Given the description of an element on the screen output the (x, y) to click on. 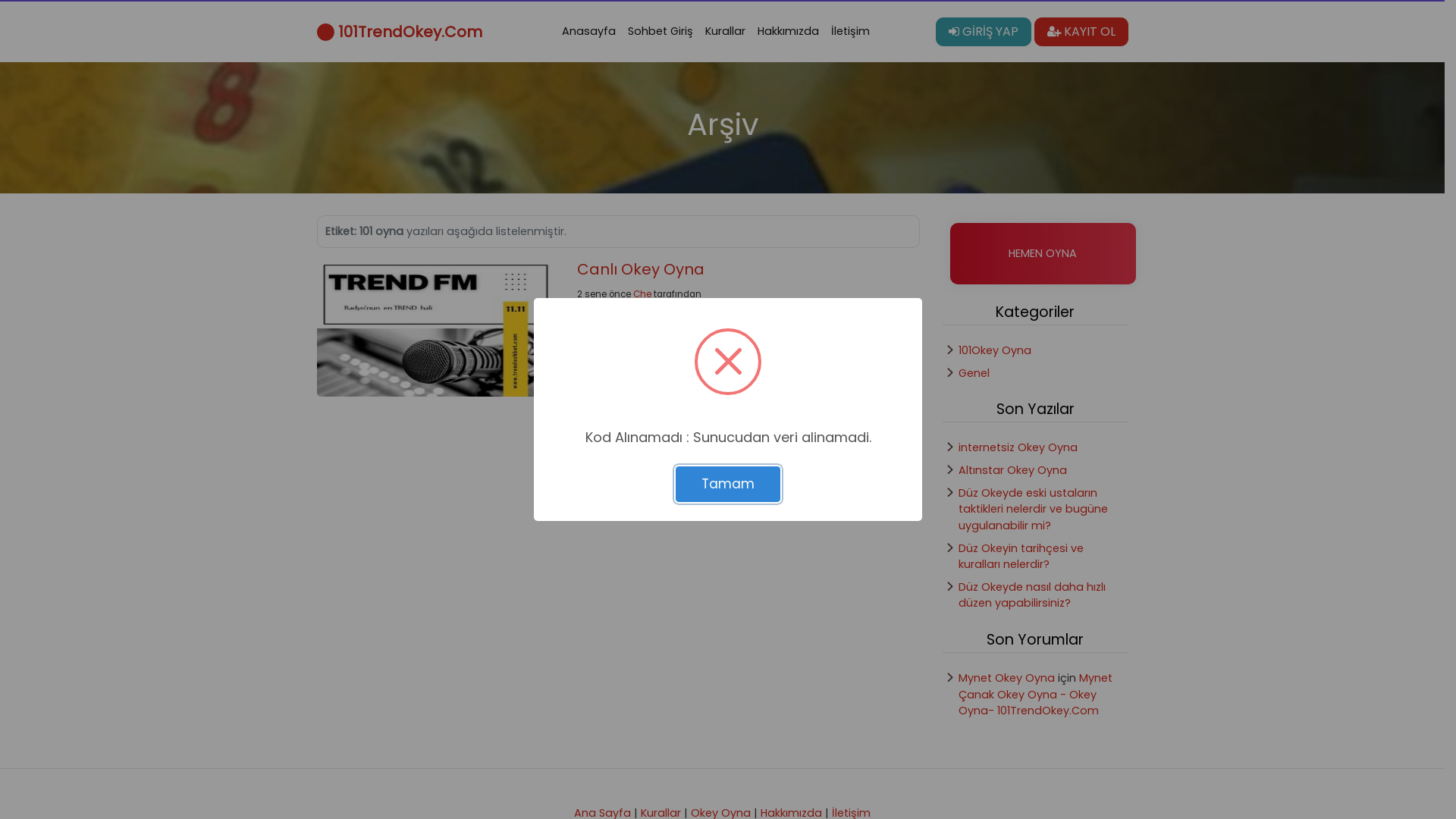
Genel Element type: text (973, 372)
KAYIT OL Element type: text (1081, 31)
Tamam Element type: text (727, 484)
Che Element type: text (642, 294)
internetsiz Okey Oyna Element type: text (1017, 447)
Kurallar Element type: text (725, 31)
101TrendOkey.Com Element type: text (399, 31)
Anasayfa Element type: text (588, 31)
Mynet Okey Oyna Element type: text (1006, 677)
101Okey Oyna Element type: text (994, 349)
HEMEN OYNA Element type: text (1042, 253)
